Given the description of an element on the screen output the (x, y) to click on. 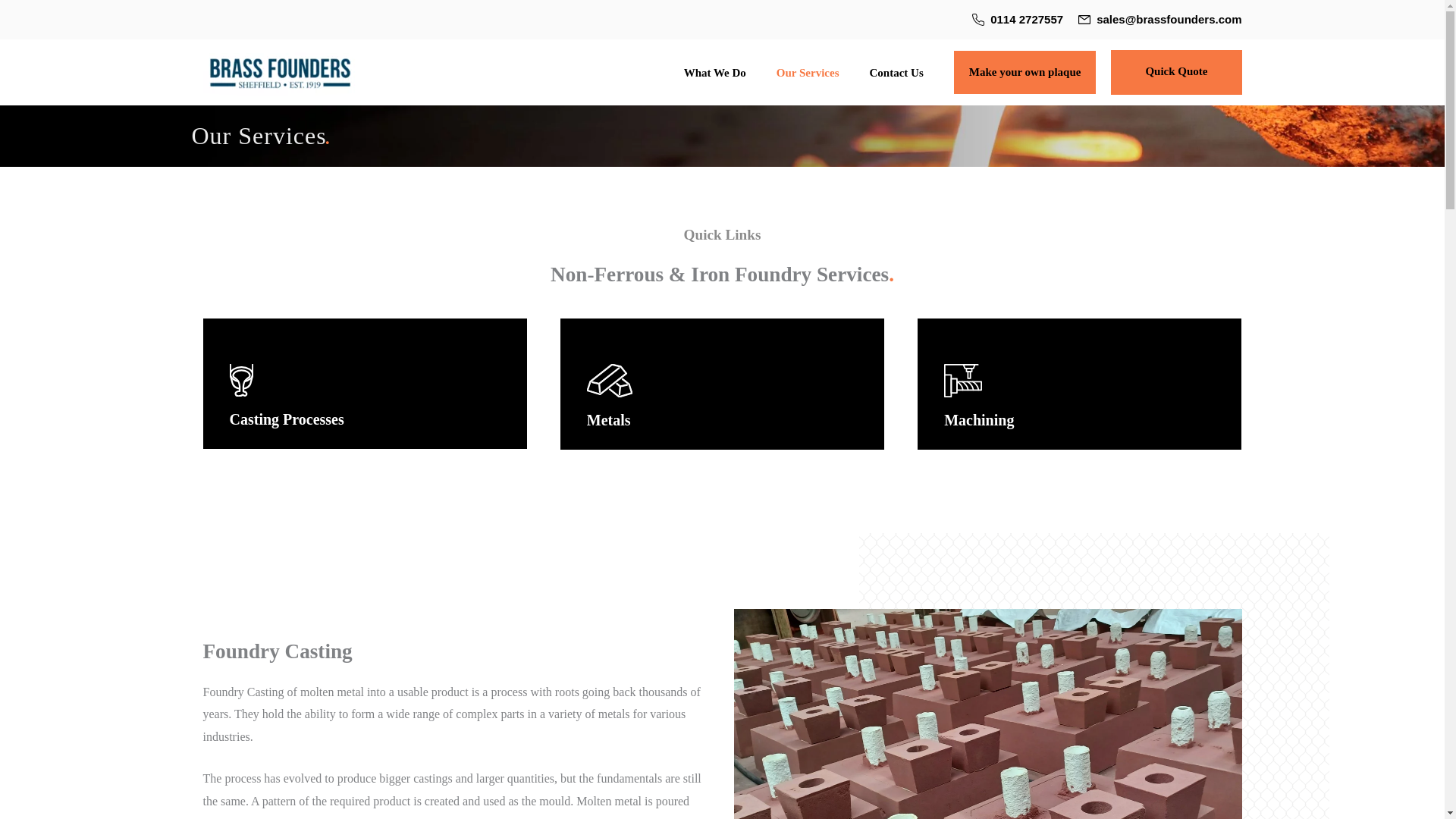
Make your own plaque (1024, 72)
Quick Quote (1175, 72)
Our Services (807, 71)
overlay (365, 383)
overlay (1079, 383)
overlay (721, 383)
0114 2727557 (1026, 19)
Contact Us (895, 71)
Foundry Casting (987, 714)
What We Do (714, 71)
